Given the description of an element on the screen output the (x, y) to click on. 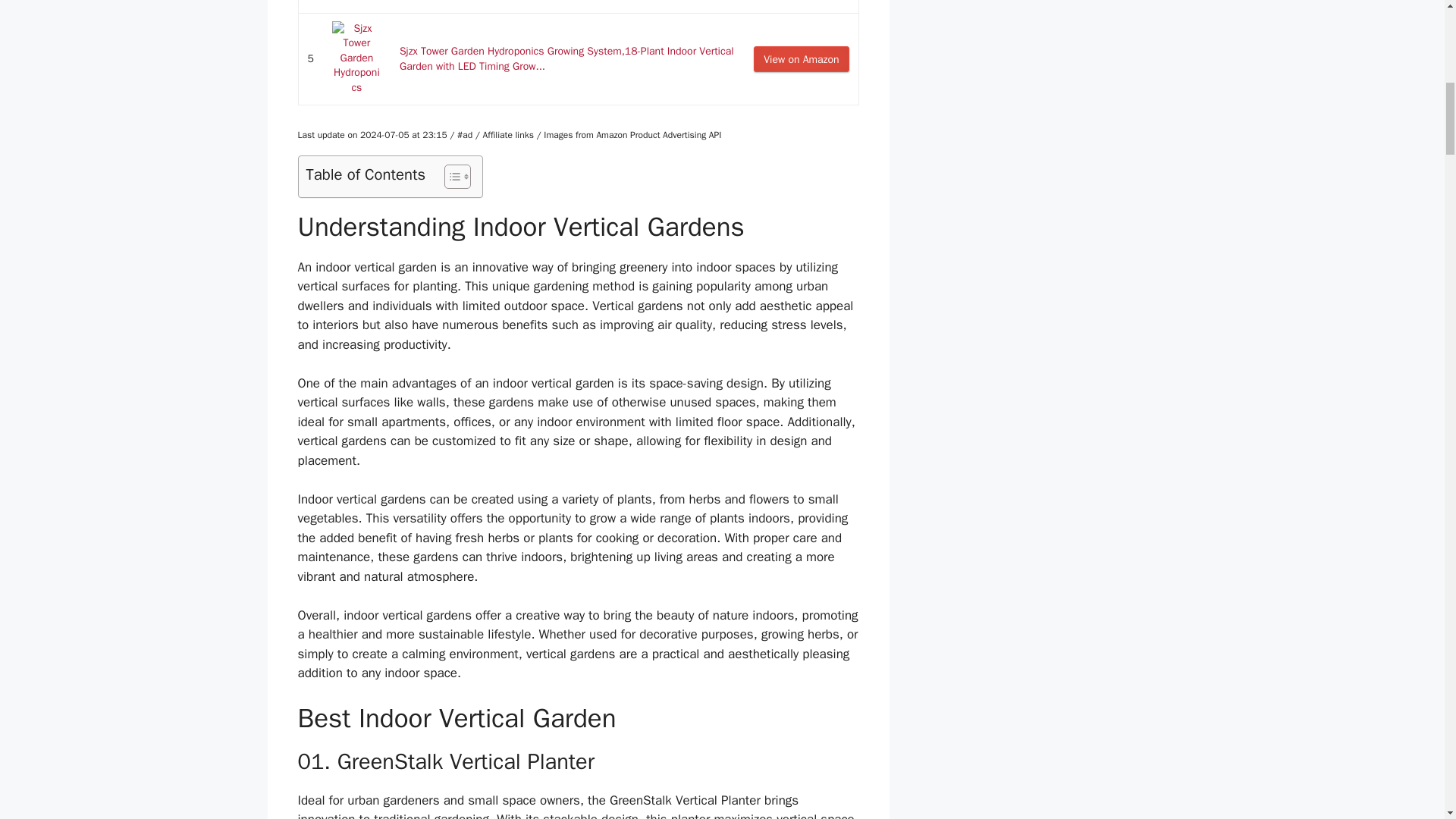
View on Amazon (801, 58)
